Given the description of an element on the screen output the (x, y) to click on. 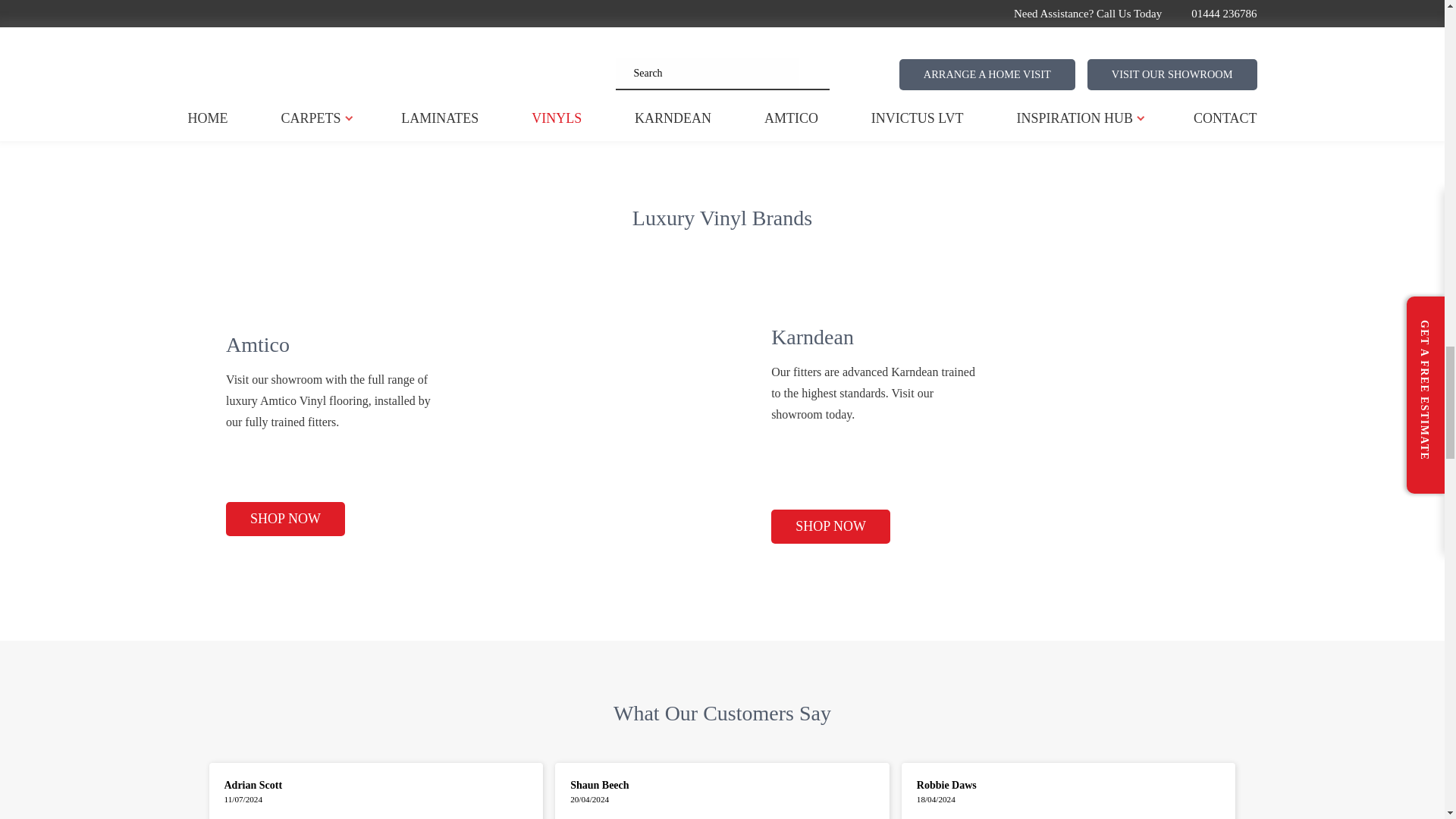
open image in lightbox (662, 67)
open image in lightbox (1021, 67)
open image in lightbox (300, 67)
